Given the description of an element on the screen output the (x, y) to click on. 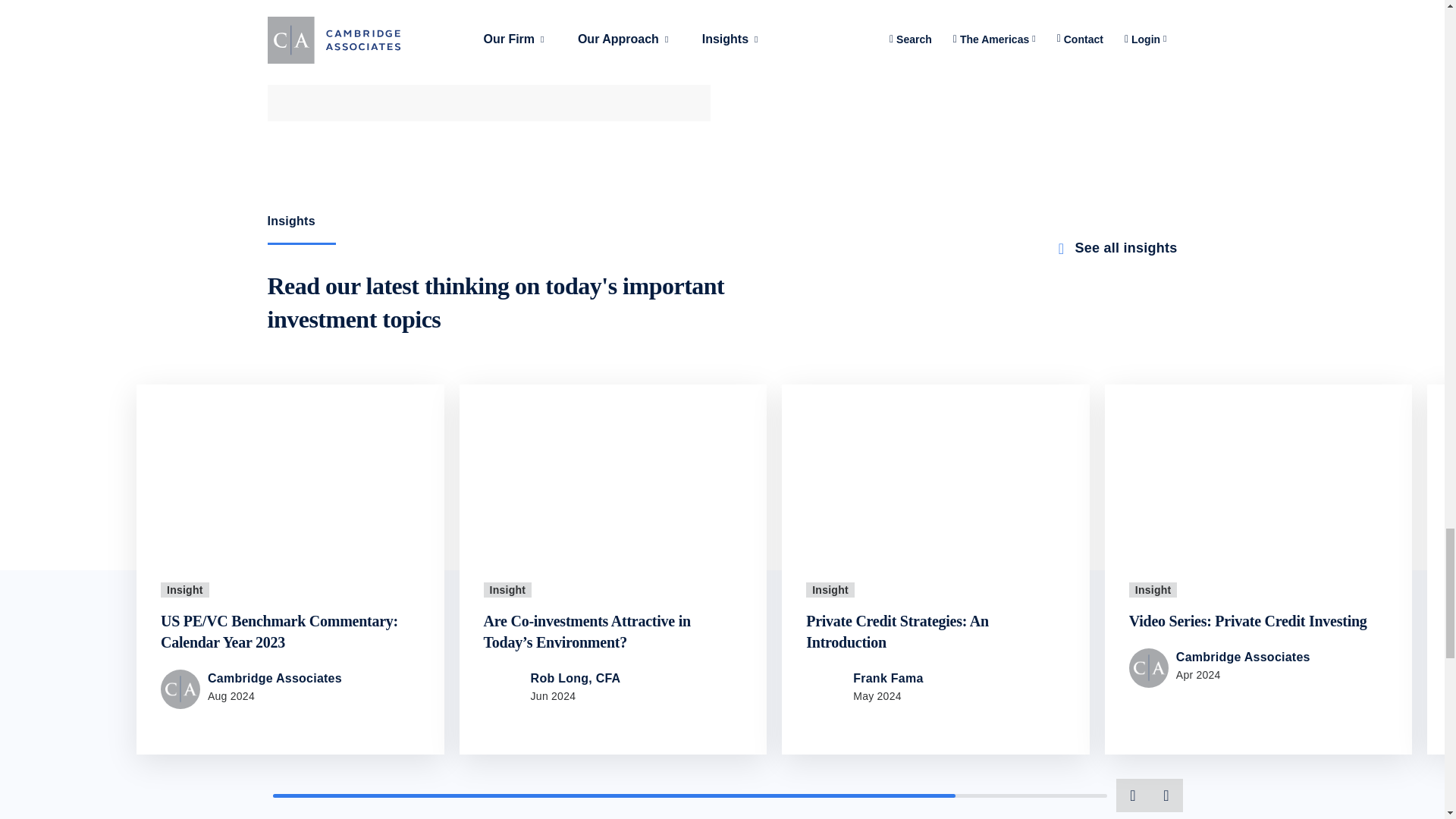
Private Credit Strategies: An Introduction (897, 631)
See all insights (1114, 247)
